Given the description of an element on the screen output the (x, y) to click on. 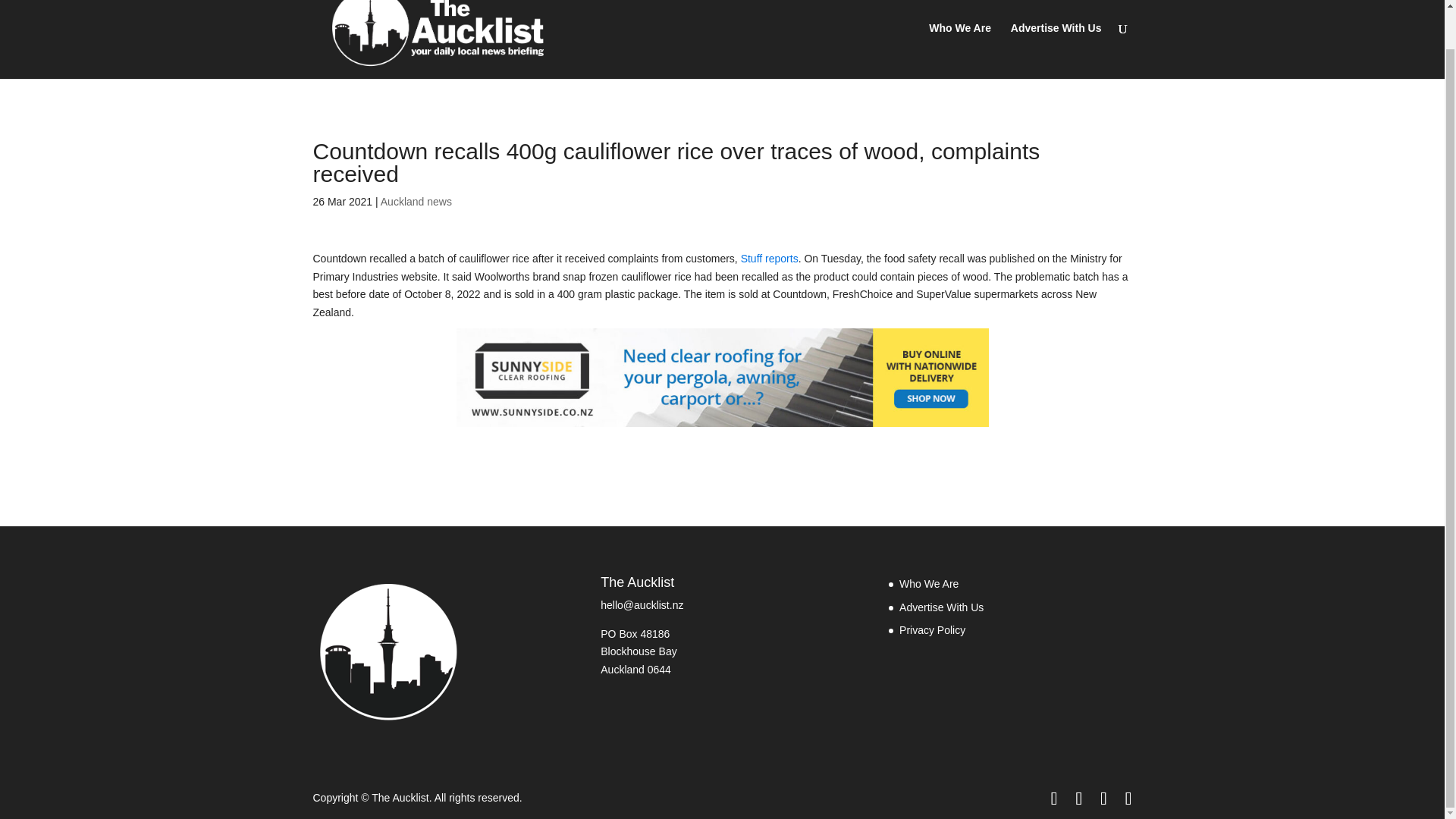
Who We Are (959, 50)
Advertise With Us (941, 607)
Privacy Policy (932, 630)
Auckland news (415, 201)
Who We Are (928, 583)
Advertise With Us (1056, 50)
Stuff reports (769, 258)
